Given the description of an element on the screen output the (x, y) to click on. 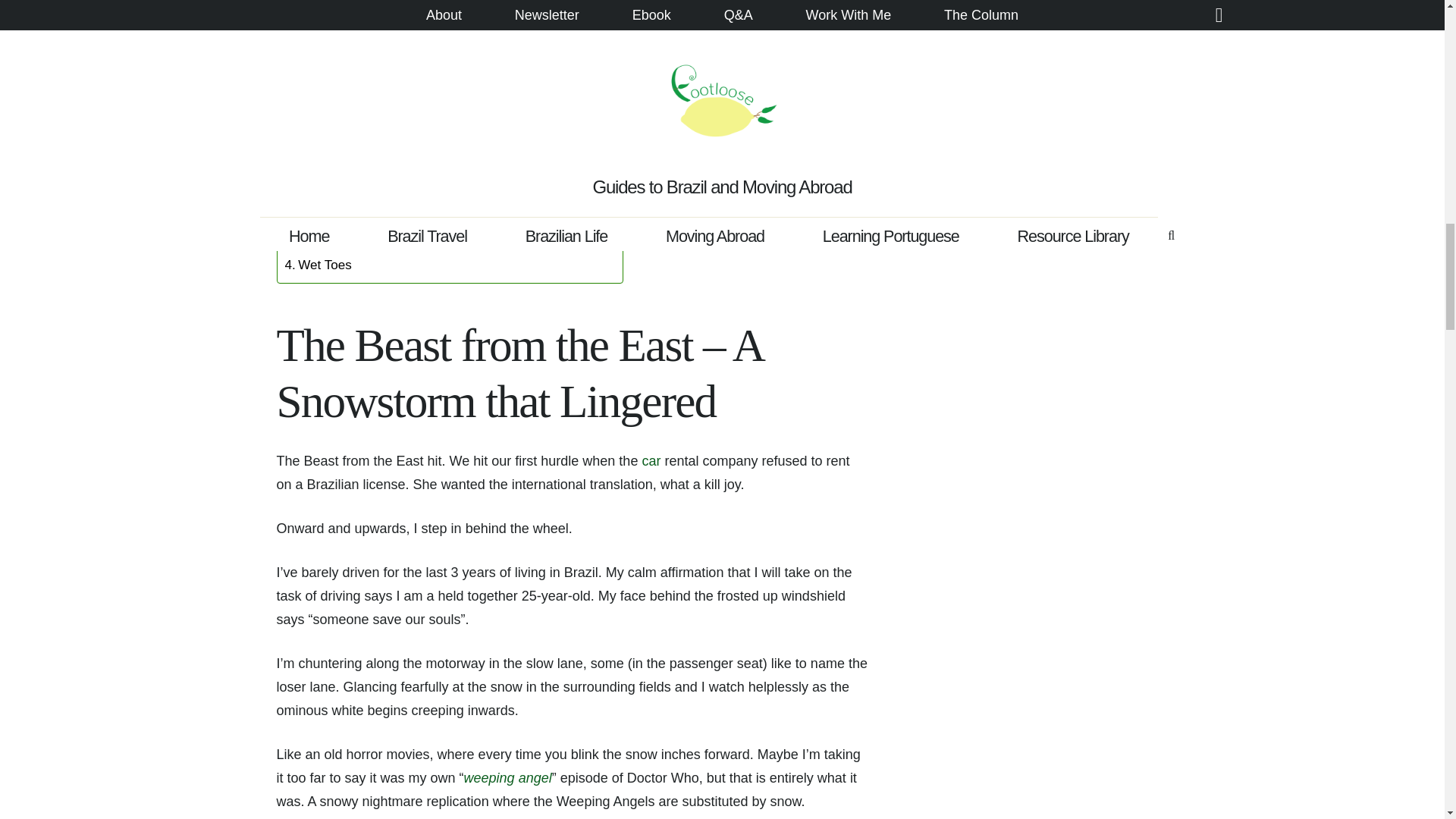
We Continue on Foot (352, 222)
Wet Toes (318, 264)
